Given the description of an element on the screen output the (x, y) to click on. 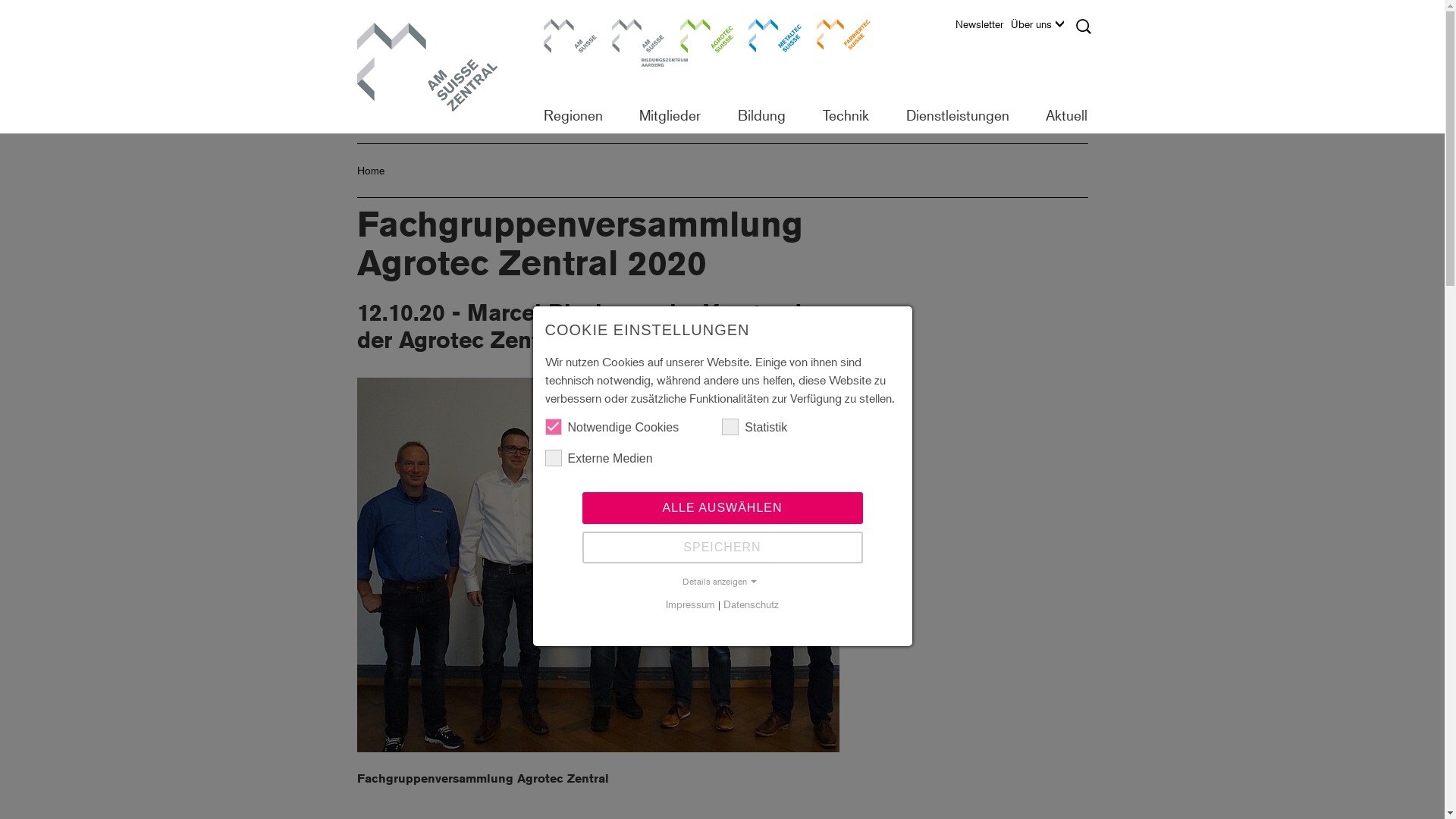
AM Suisse Element type: hover (435, 67)
Farriertec Suisse Element type: text (842, 45)
Bildungszentrum Aarberg Element type: text (637, 45)
Newsletter Element type: text (982, 27)
Impressum Element type: text (690, 603)
Home Element type: text (369, 169)
Datenschutz Element type: text (750, 603)
SPEICHERN Element type: text (722, 546)
AM Suisse Element type: text (569, 45)
Metaltec Suisse Element type: text (773, 45)
Details anzeigen Element type: text (721, 581)
Agrotec Suisse Element type: text (705, 45)
